Given the description of an element on the screen output the (x, y) to click on. 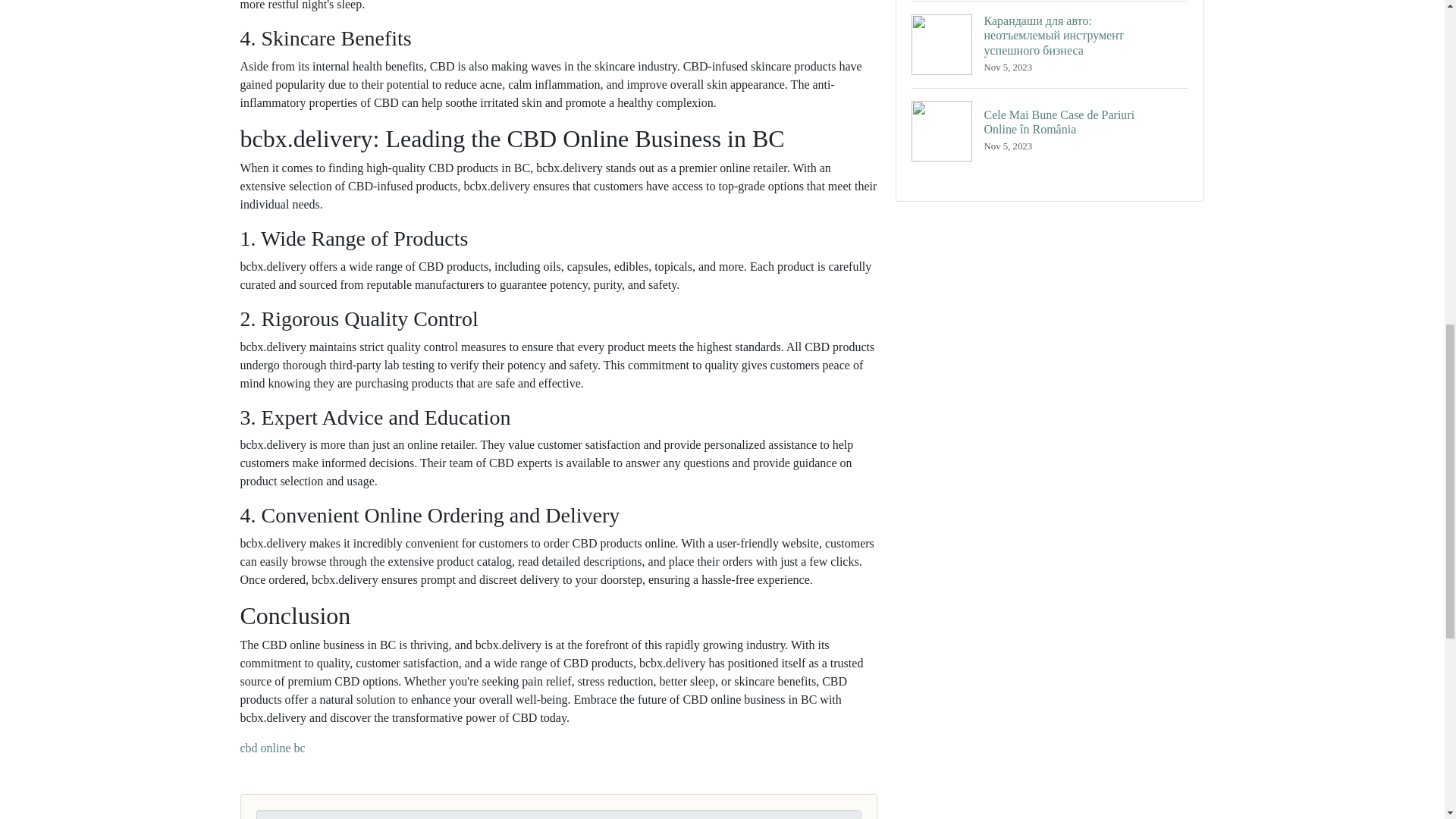
cbd online bc (272, 748)
